Given the description of an element on the screen output the (x, y) to click on. 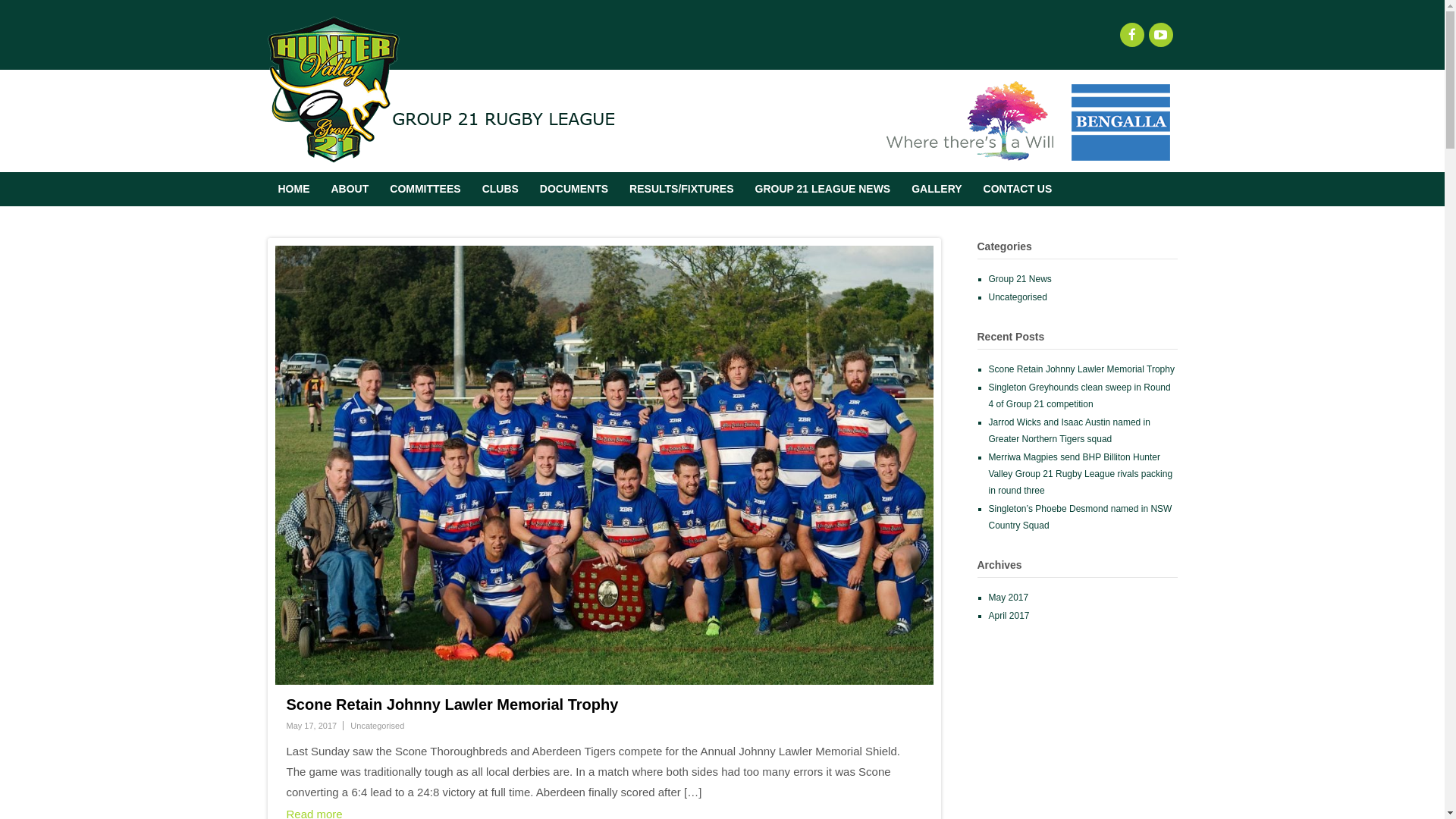
CLUBS Element type: text (500, 189)
ABOUT Element type: text (349, 189)
GROUP 21 LEAGUE NEWS Element type: text (822, 189)
GALLERY Element type: text (936, 189)
HOME Element type: text (293, 189)
Scone Retain Johnny Lawler Memorial Trophy Element type: text (452, 704)
YouTube Element type: hover (1160, 34)
COMMITTEES Element type: text (424, 189)
DOCUMENTS Element type: text (573, 189)
Uncategorised Element type: text (377, 725)
Scone Retain Johnny Lawler Memorial Trophy Element type: text (1081, 369)
RESULTS/FIXTURES Element type: text (680, 189)
CONTACT US Element type: text (1017, 189)
May 2017 Element type: text (1008, 597)
group21com Element type: hover (440, 154)
Uncategorised Element type: text (1017, 296)
Group 21 News Element type: text (1019, 278)
April 2017 Element type: text (1008, 615)
Facebook Element type: hover (1131, 34)
Scone Retain Johnny Lawler Memorial Trophy - Element type: hover (603, 464)
